Given the description of an element on the screen output the (x, y) to click on. 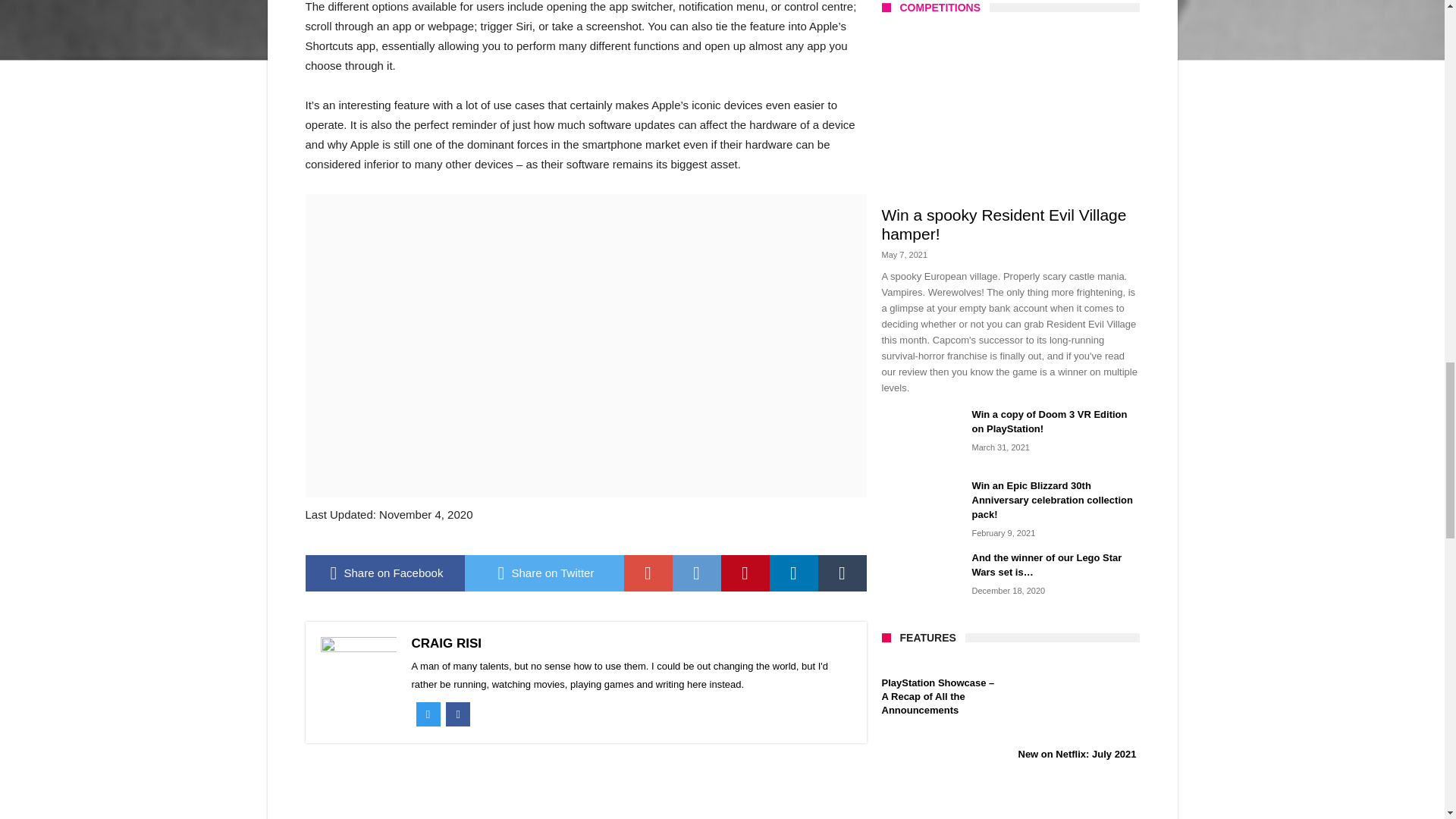
Share on Facebook (384, 573)
Share on Twitter (543, 573)
Share on Reddit (695, 573)
